Given the description of an element on the screen output the (x, y) to click on. 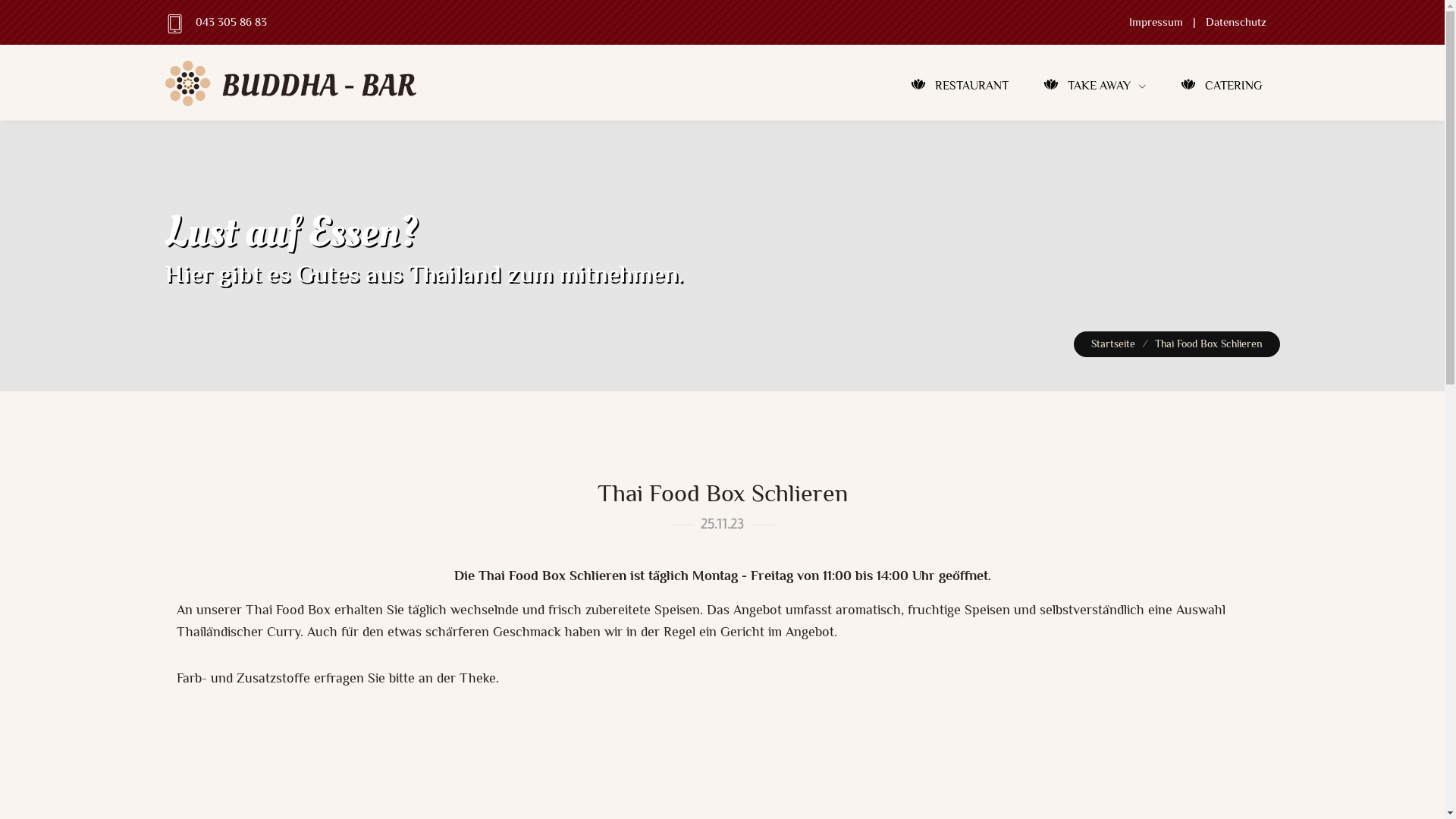
RESTAURANT Element type: text (959, 85)
Impressum Element type: text (1156, 21)
043 305 86 83 Element type: text (230, 21)
Datenschutz Element type: text (1235, 21)
CATERING Element type: text (1221, 85)
BUDDHA - BAR Element type: text (292, 99)
TAKE AWAY Element type: text (1093, 85)
Startseite Element type: text (1113, 343)
